Given the description of an element on the screen output the (x, y) to click on. 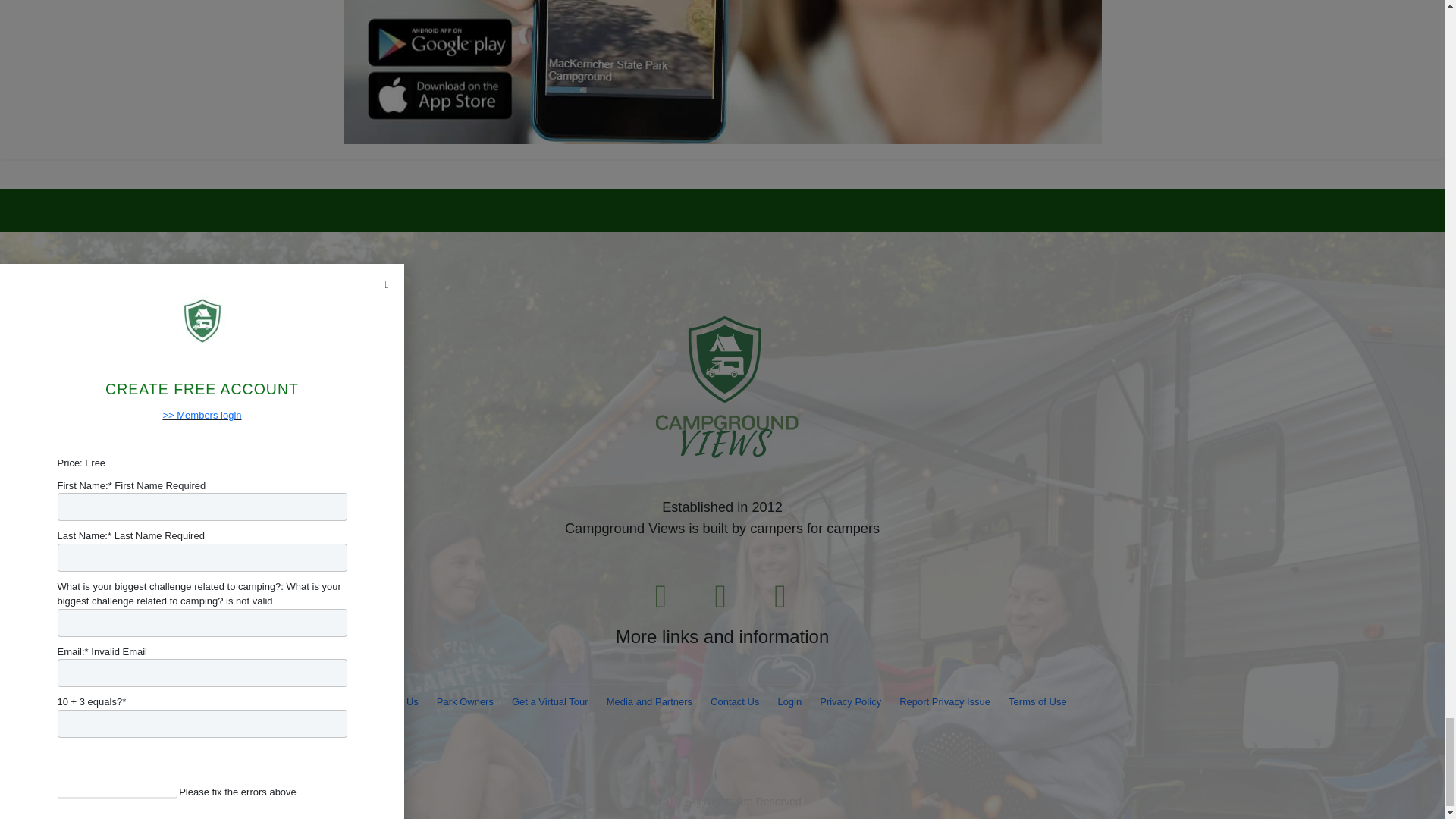
About Us (397, 701)
Get a Virtual Tour (549, 701)
Park Owners (465, 701)
